Given the description of an element on the screen output the (x, y) to click on. 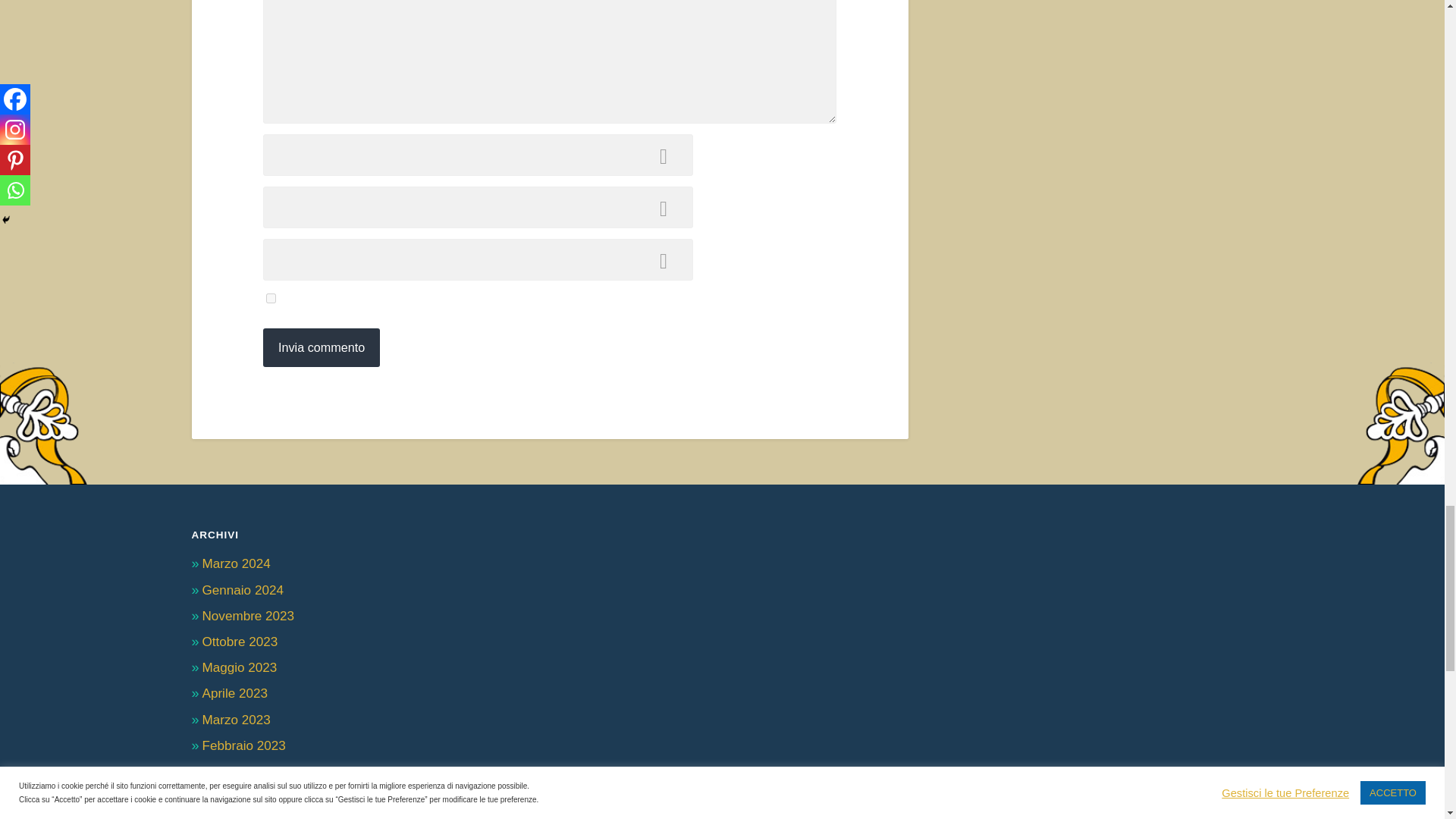
Invia commento (321, 347)
Invia commento (321, 347)
yes (271, 298)
